Given the description of an element on the screen output the (x, y) to click on. 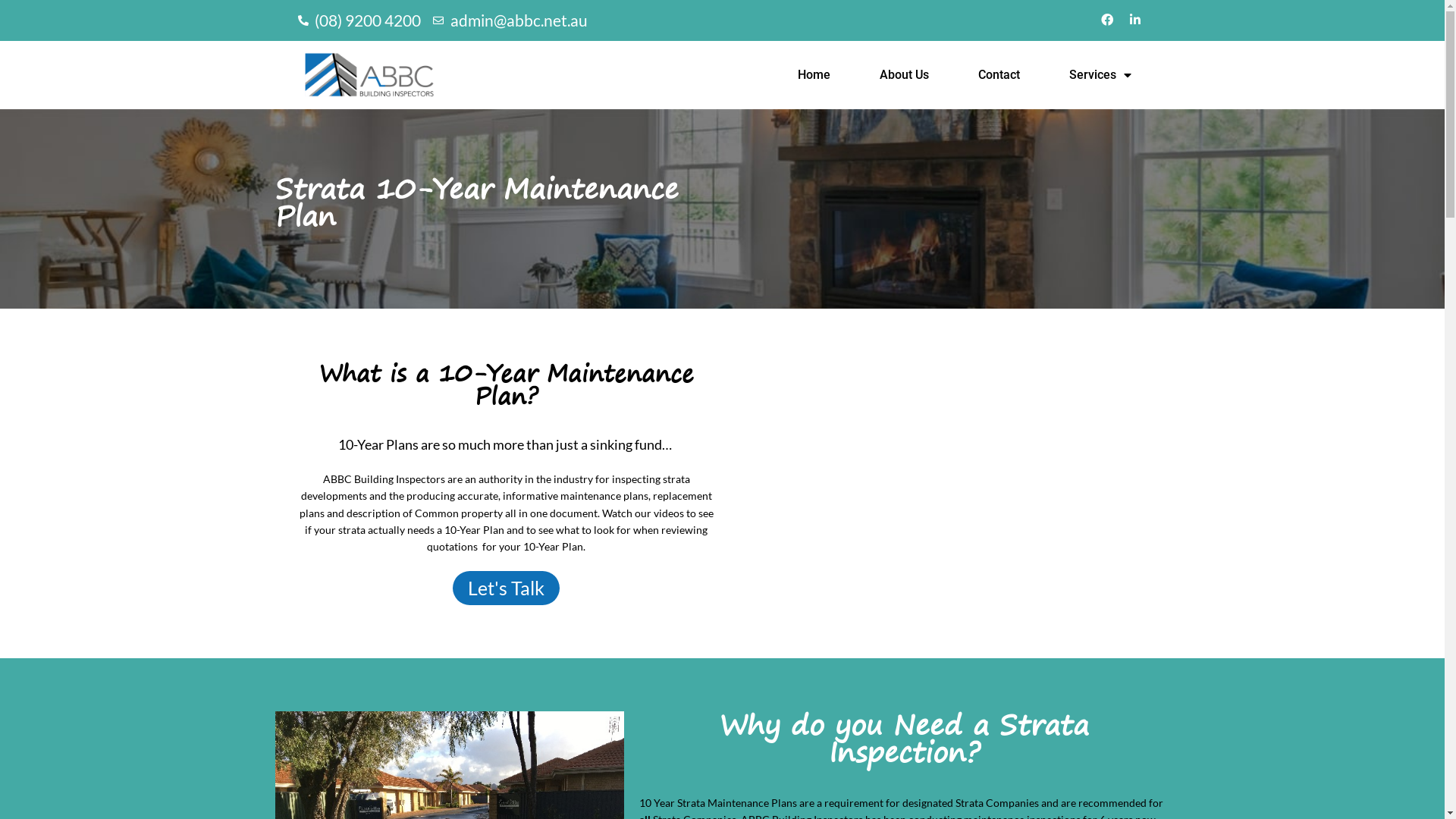
Let's Talk Element type: text (505, 588)
About Us Element type: text (904, 74)
Contact Element type: text (999, 74)
admin@abbc.net.au Element type: text (510, 20)
Services Element type: text (1100, 74)
Home Element type: text (813, 74)
